Given the description of an element on the screen output the (x, y) to click on. 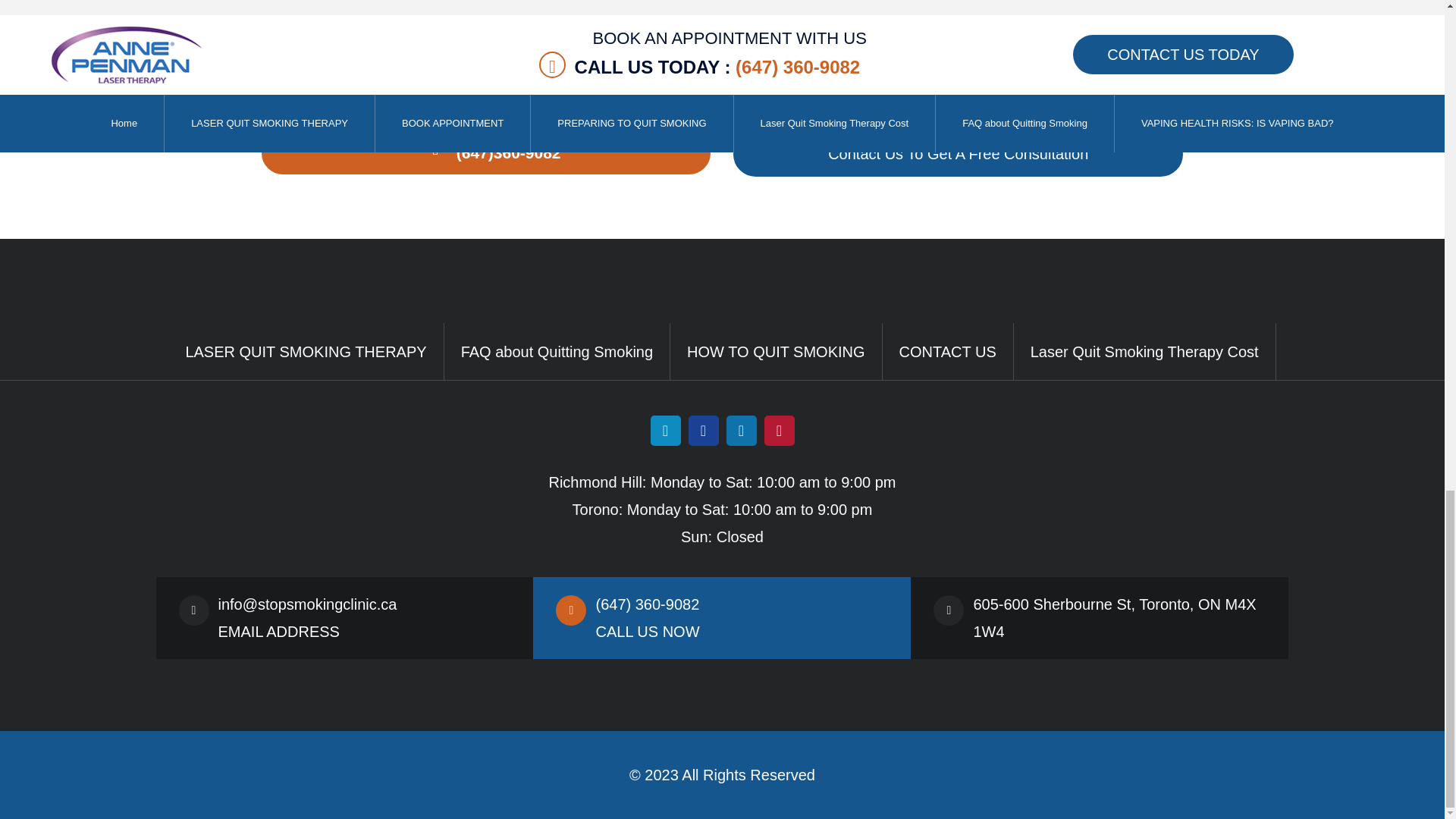
FAQ about Quitting Smoking (556, 351)
Contact Us To Get A Free Consultation (957, 153)
HOW TO QUIT SMOKING (775, 351)
Laser Quit Smoking Therapy Cost (1144, 351)
CONTACT US (957, 153)
LASER QUIT SMOKING THERAPY (306, 351)
CONTACT US (947, 351)
